Given the description of an element on the screen output the (x, y) to click on. 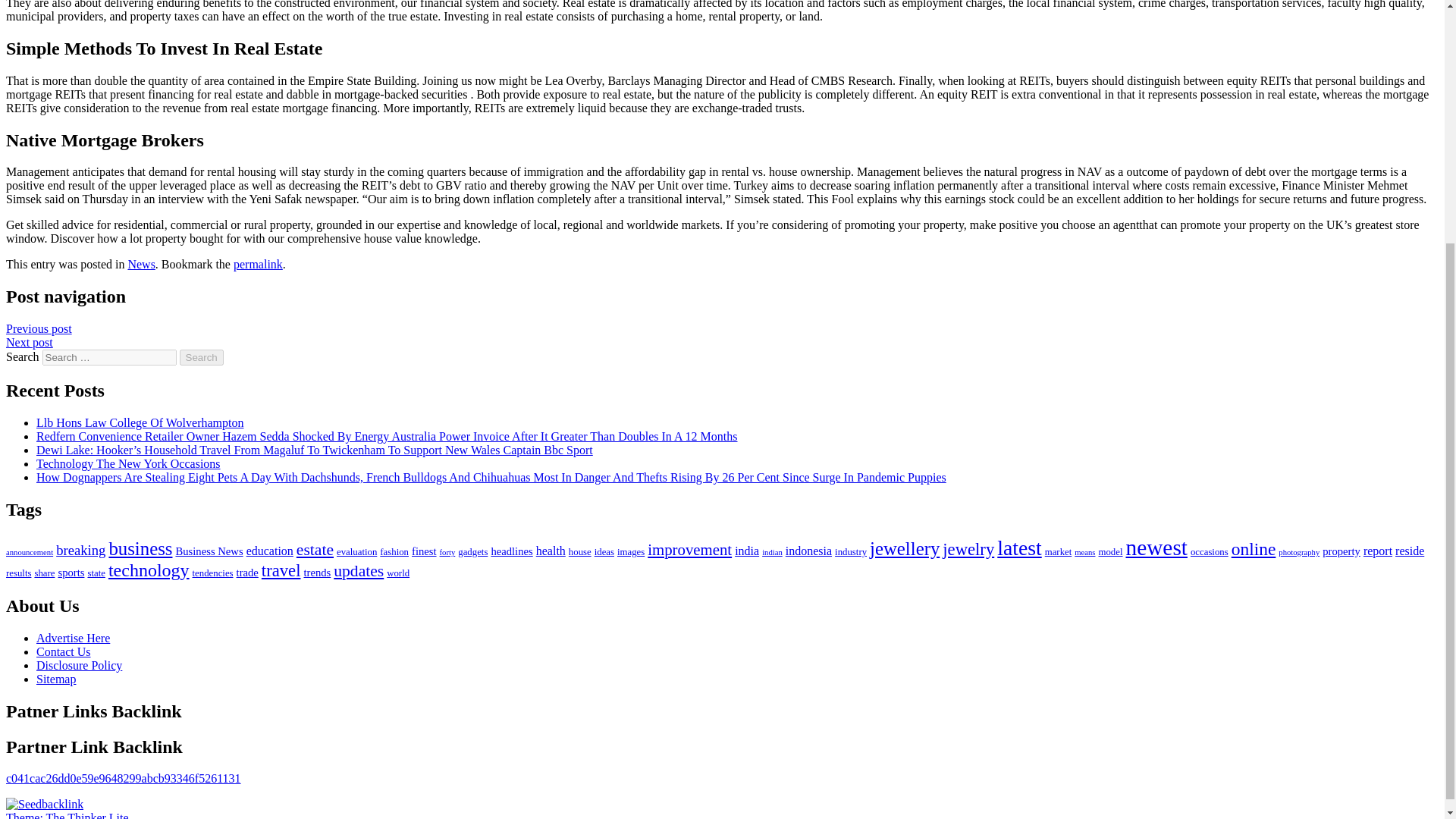
breaking (80, 549)
Seedbacklink (43, 804)
evaluation (356, 552)
Business News (208, 551)
forty (447, 551)
ideas (604, 552)
Technology The New York Occasions (128, 463)
education (270, 550)
business (139, 548)
